Given the description of an element on the screen output the (x, y) to click on. 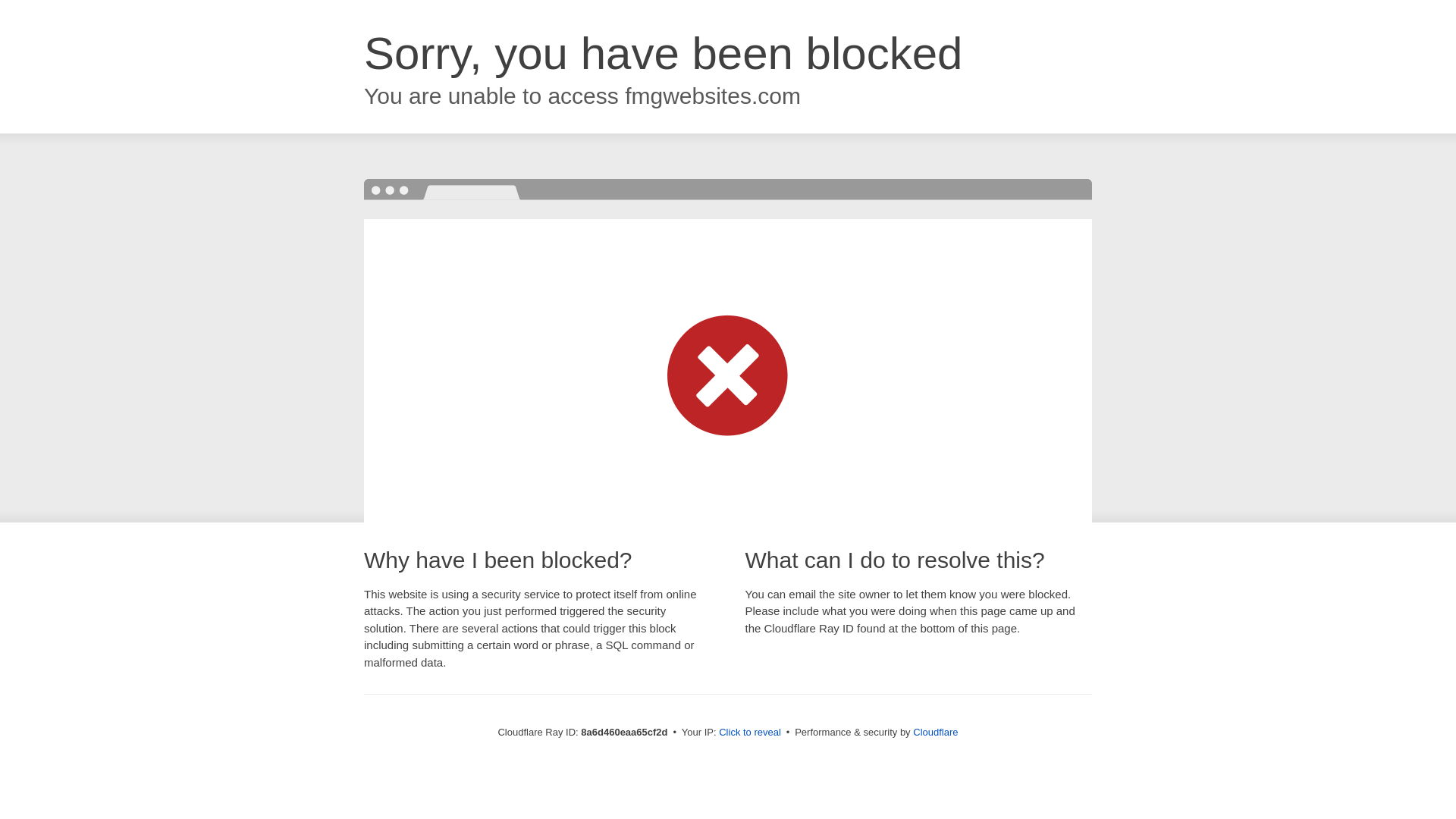
Click to reveal (749, 732)
Cloudflare (935, 731)
